Given the description of an element on the screen output the (x, y) to click on. 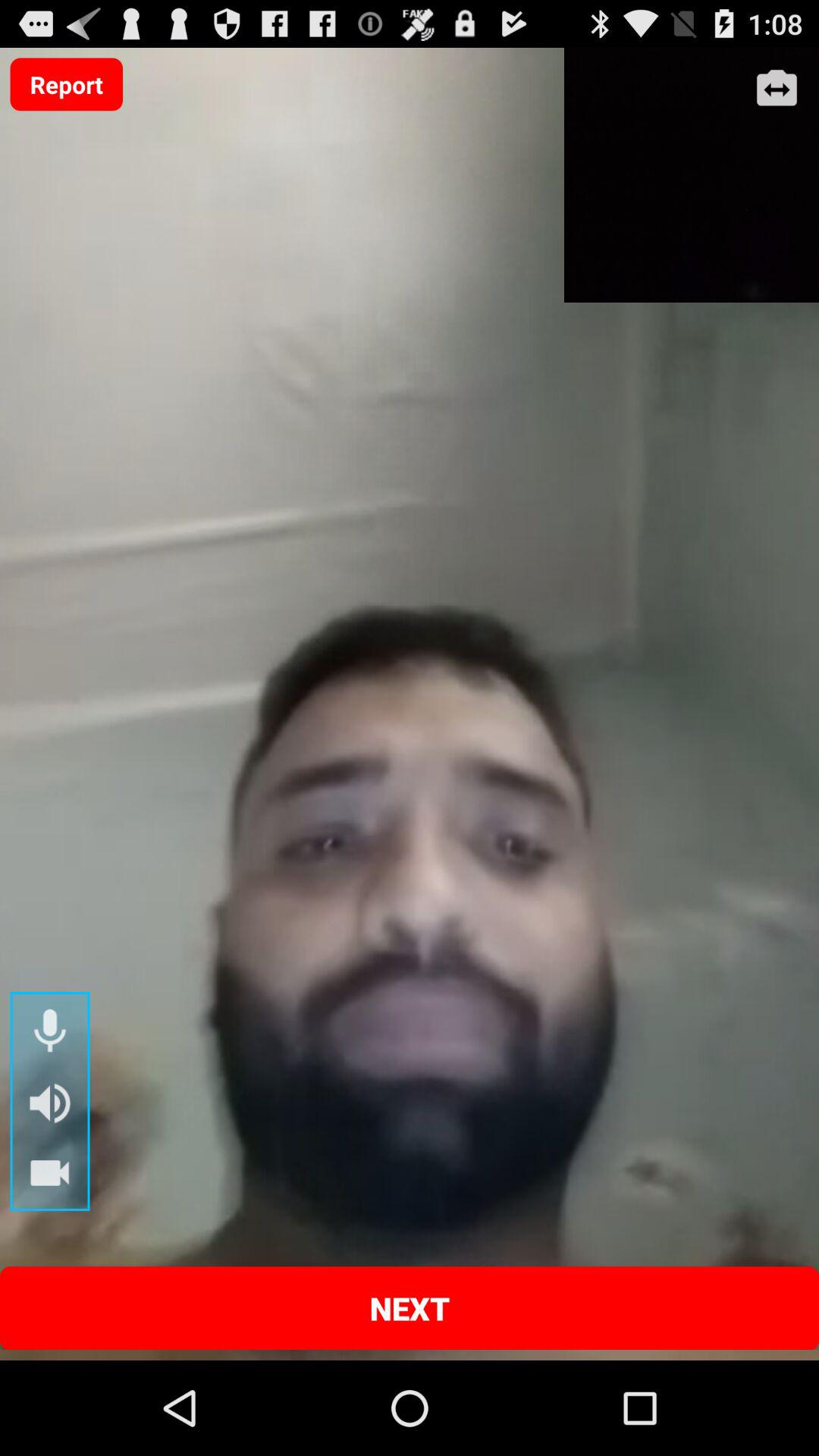
open camera (776, 89)
